Given the description of an element on the screen output the (x, y) to click on. 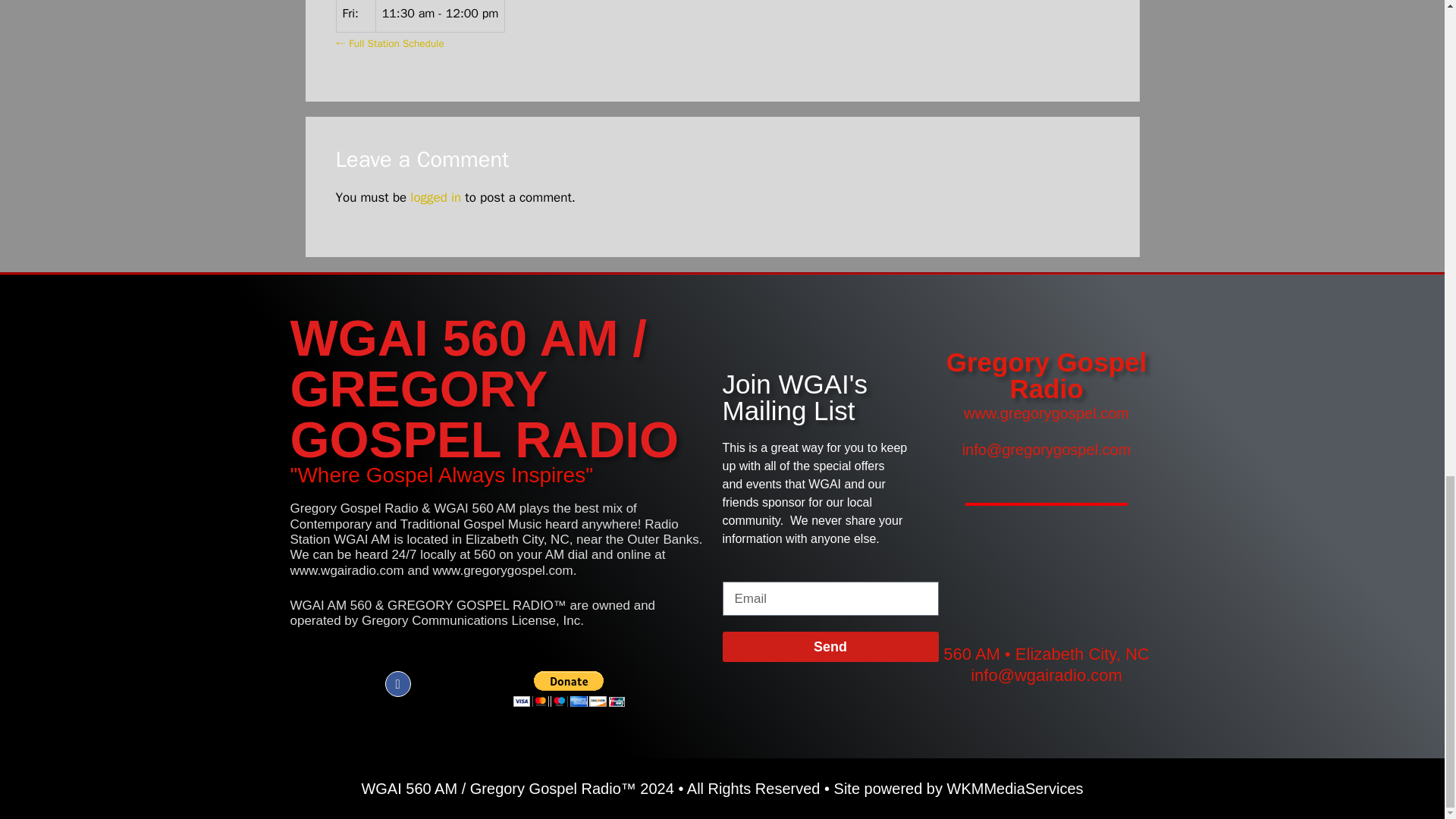
logged in (435, 197)
WGAI2 copy (1046, 584)
Site powered by WKMMediaServices (958, 788)
Send (829, 646)
Scroll back to top (1406, 389)
PayPal - The safer, easier way to pay online! (568, 688)
